Given the description of an element on the screen output the (x, y) to click on. 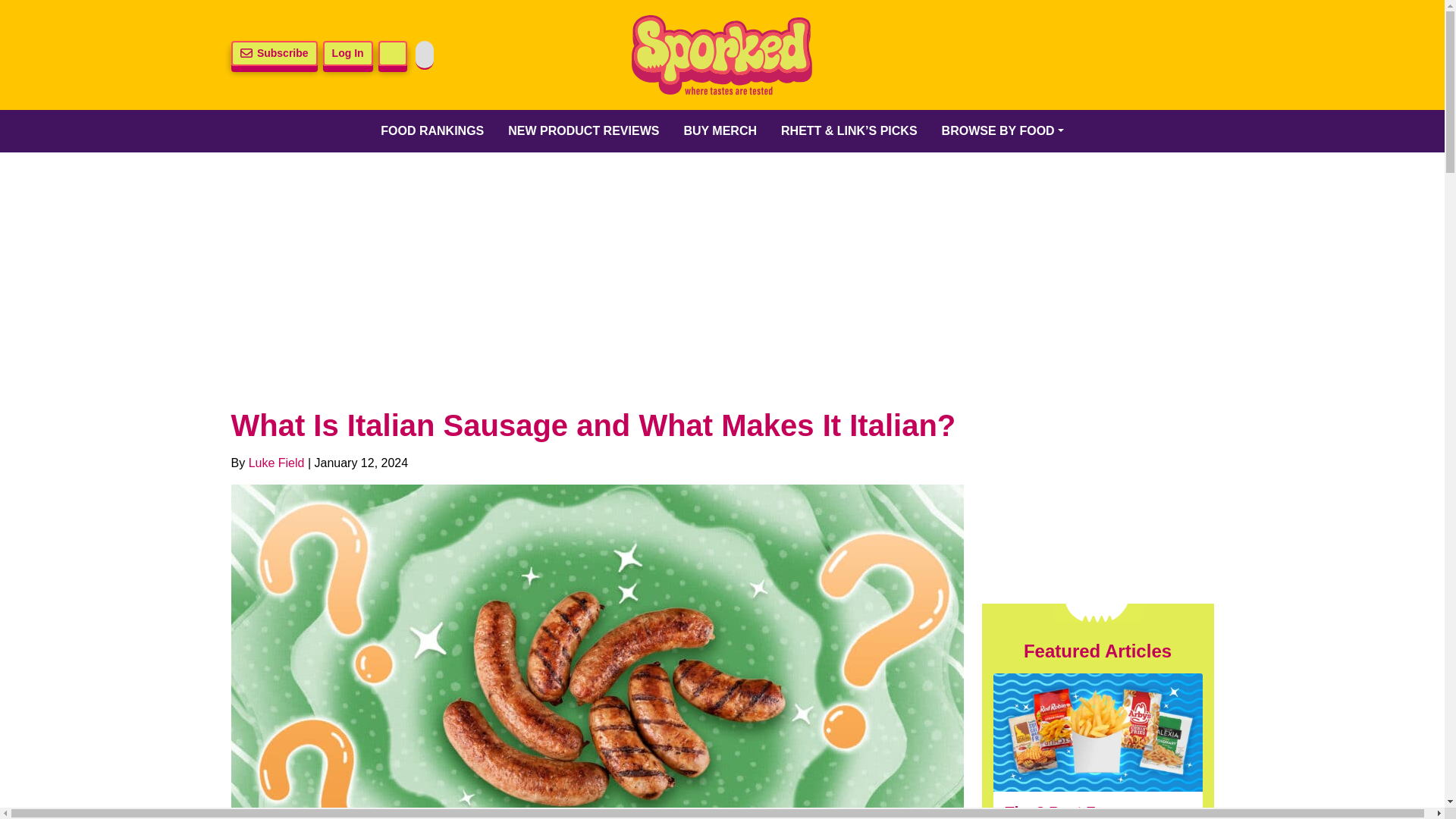
BUY MERCH (719, 130)
Subscribe (273, 53)
Twitter, opens in new tab (996, 54)
Tiktok, opens in new tab (1114, 54)
NEW PRODUCT REVIEWS (583, 130)
FOOD RANKINGS (432, 130)
YouTube, opens in new tab (1153, 54)
Search (392, 53)
Flipboard, opens in new tab (1192, 54)
Facebook, opens in new tab (1035, 54)
Log In (347, 53)
BROWSE BY FOOD (1002, 130)
Posts by Luke Field (276, 462)
Instagram, opens in new tab (1074, 54)
